Given the description of an element on the screen output the (x, y) to click on. 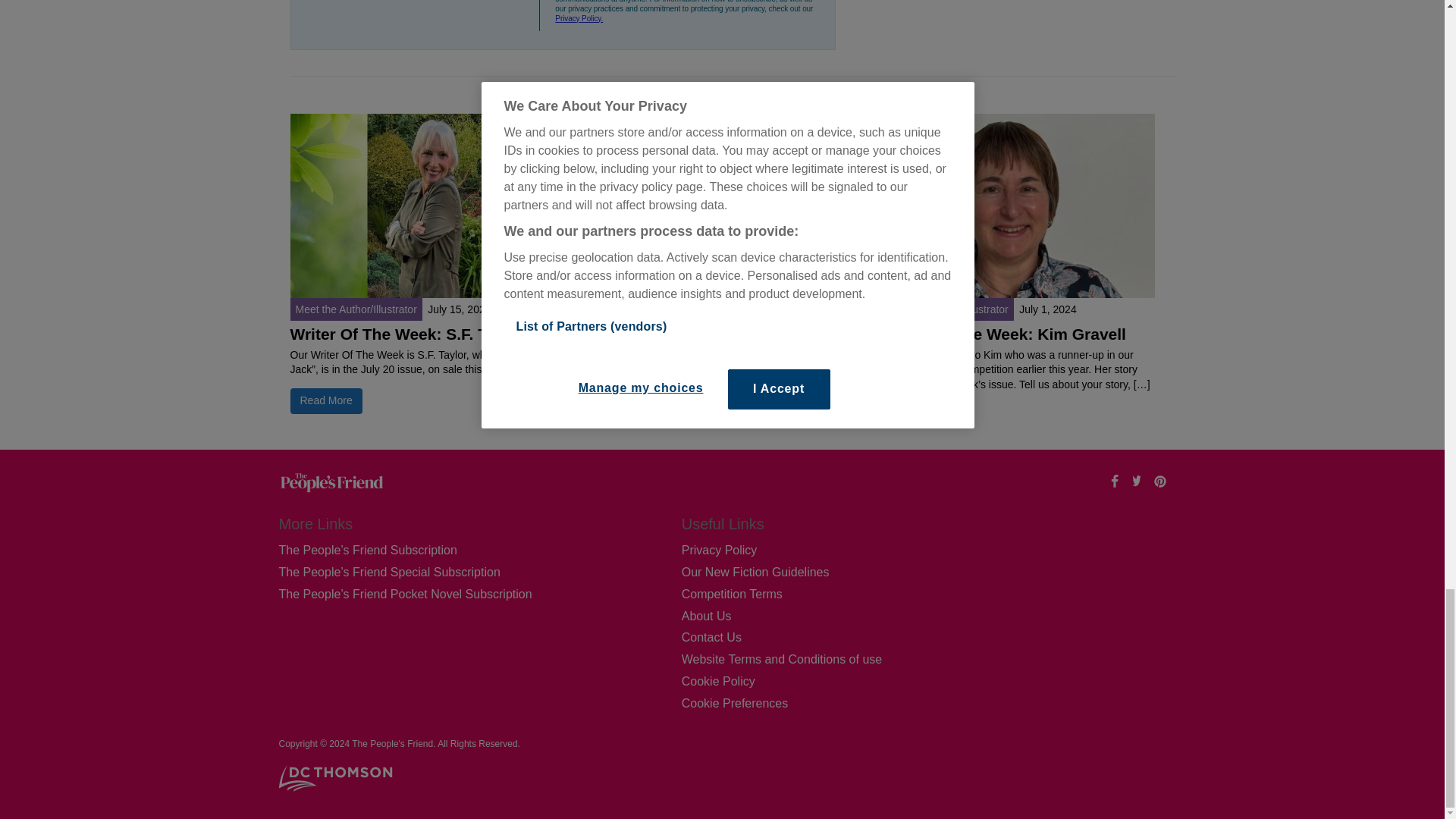
DCT Logo (336, 777)
Privacy Policy. (578, 18)
